Given the description of an element on the screen output the (x, y) to click on. 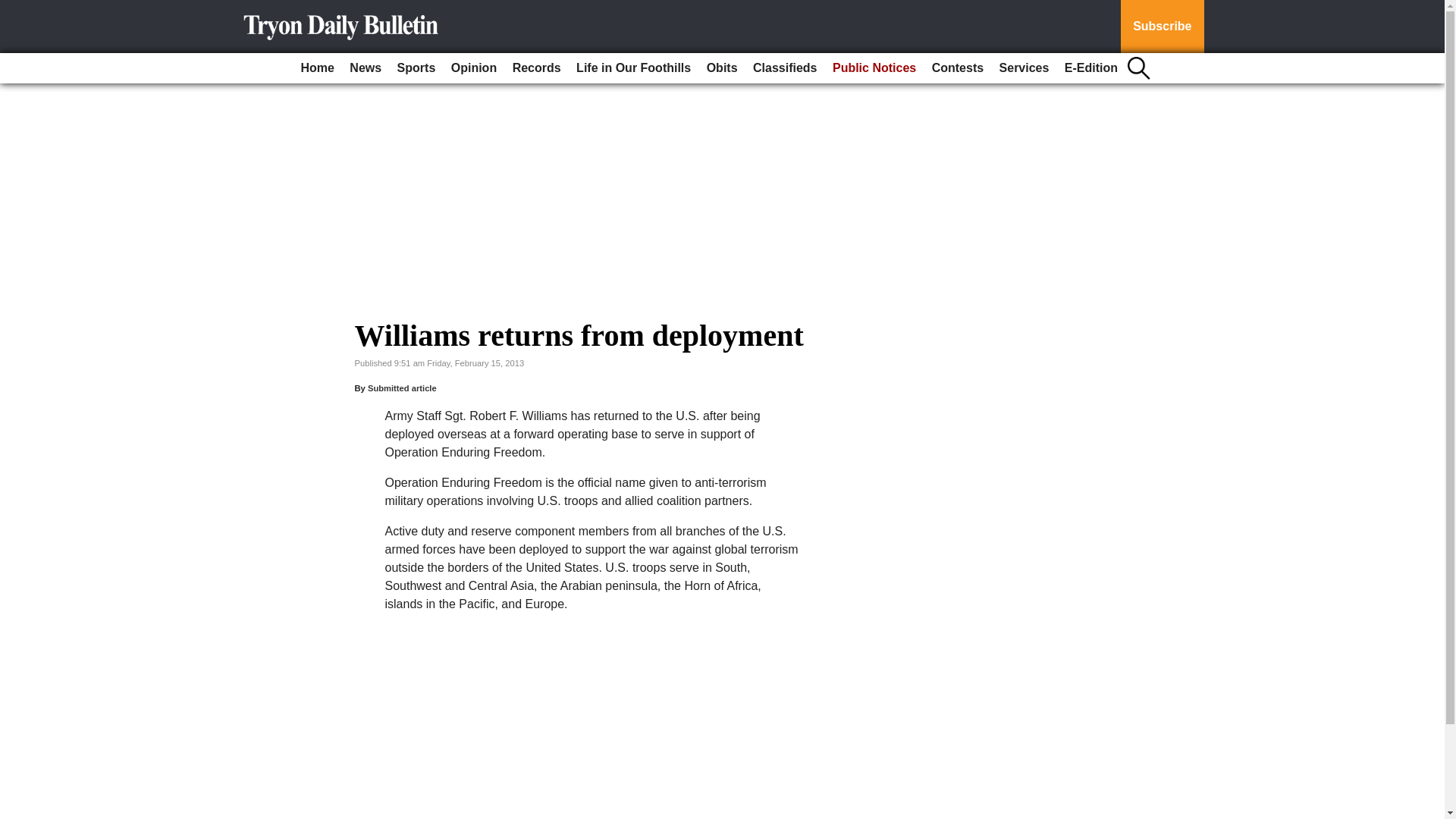
Sports (416, 68)
Life in Our Foothills (633, 68)
Public Notices (874, 68)
Contests (958, 68)
Services (1023, 68)
Submitted article (402, 388)
Opinion (473, 68)
E-Edition (1091, 68)
Subscribe (1162, 26)
Go (13, 9)
